Given the description of an element on the screen output the (x, y) to click on. 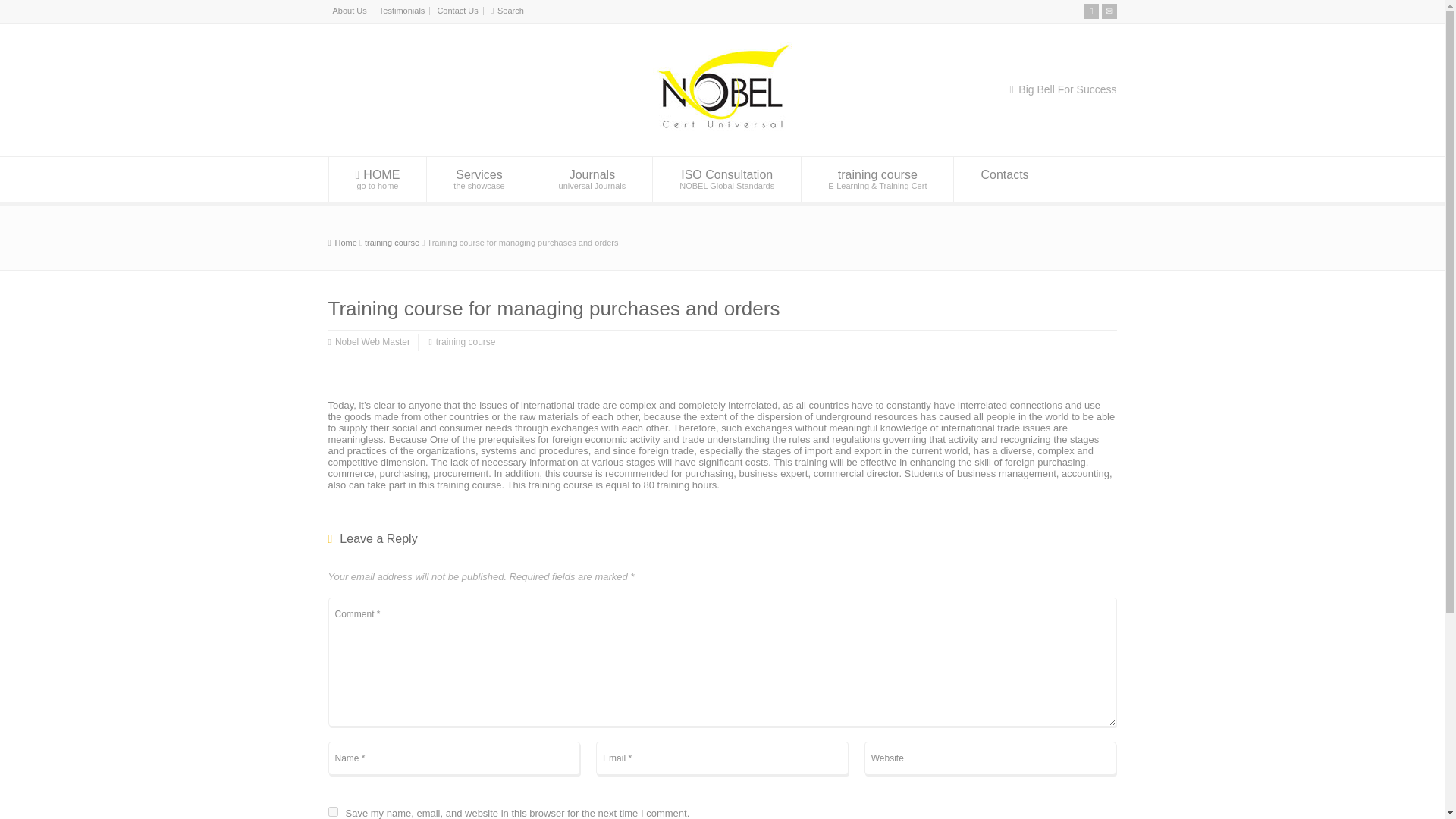
Testimonials (401, 10)
Posts by Nobel Web Master (372, 342)
RSS (1090, 11)
yes (332, 811)
About Us (348, 10)
Email (478, 179)
Contact Us (1108, 11)
Website (726, 179)
